Given the description of an element on the screen output the (x, y) to click on. 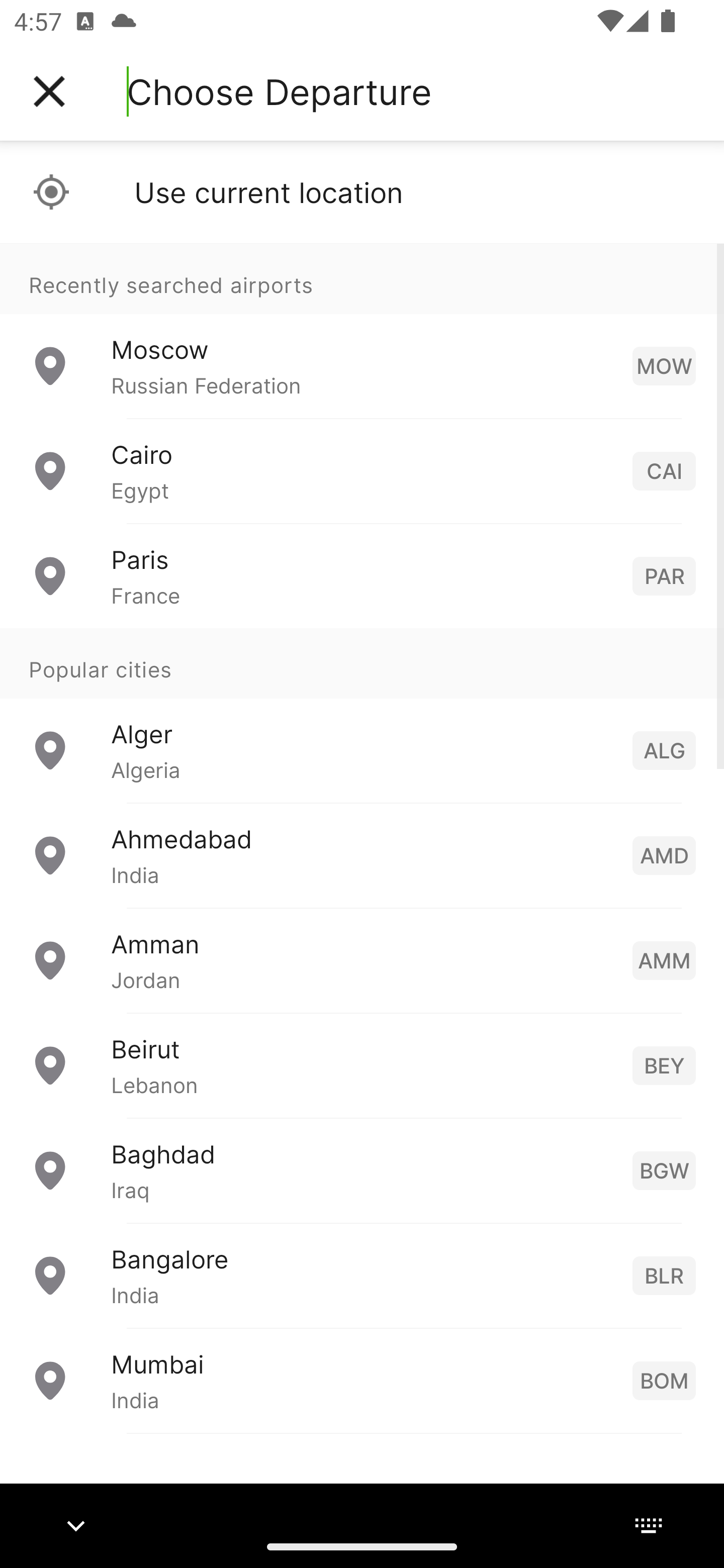
Choose Departure (279, 91)
Use current location (362, 192)
Recently searched airports (362, 278)
Cairo Egypt CAI (362, 470)
Paris France PAR (362, 575)
Popular cities Alger Algeria ALG (362, 715)
Popular cities (362, 663)
Ahmedabad India AMD (362, 854)
Amman Jordan AMM (362, 959)
Beirut Lebanon BEY (362, 1064)
Baghdad Iraq BGW (362, 1170)
Bangalore India BLR (362, 1275)
Mumbai India BOM (362, 1380)
